Given the description of an element on the screen output the (x, y) to click on. 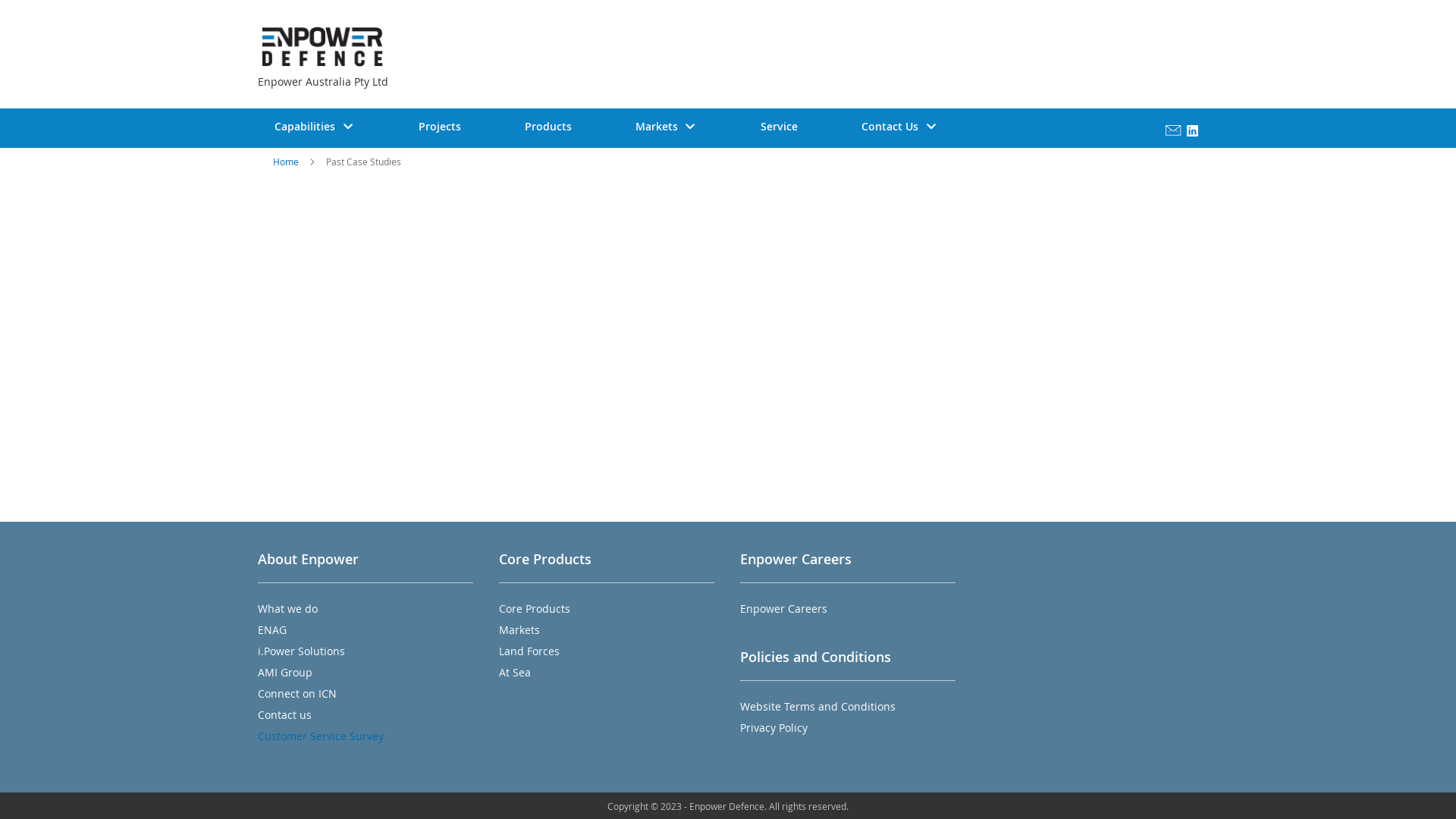
At Sea Element type: text (514, 672)
Enpower Defence Element type: hover (321, 46)
Products Element type: text (547, 126)
Service Element type: text (778, 126)
Customer Service Survey Element type: text (320, 735)
Home Element type: text (285, 161)
Markets Element type: text (518, 629)
What we do Element type: text (287, 608)
Connect on ICN Element type: text (296, 693)
ENAG Element type: text (271, 629)
Land Forces Element type: text (528, 650)
Projects Element type: text (439, 126)
Website Terms and Conditions Element type: text (817, 706)
Enpower Careers Element type: text (783, 608)
Core Products Element type: text (534, 608)
Enpower Defence Element type: hover (412, 48)
i.Power Solutions Element type: text (301, 650)
Contact us Element type: text (284, 714)
Privacy Policy Element type: text (773, 727)
AMI Group Element type: text (284, 672)
